Given the description of an element on the screen output the (x, y) to click on. 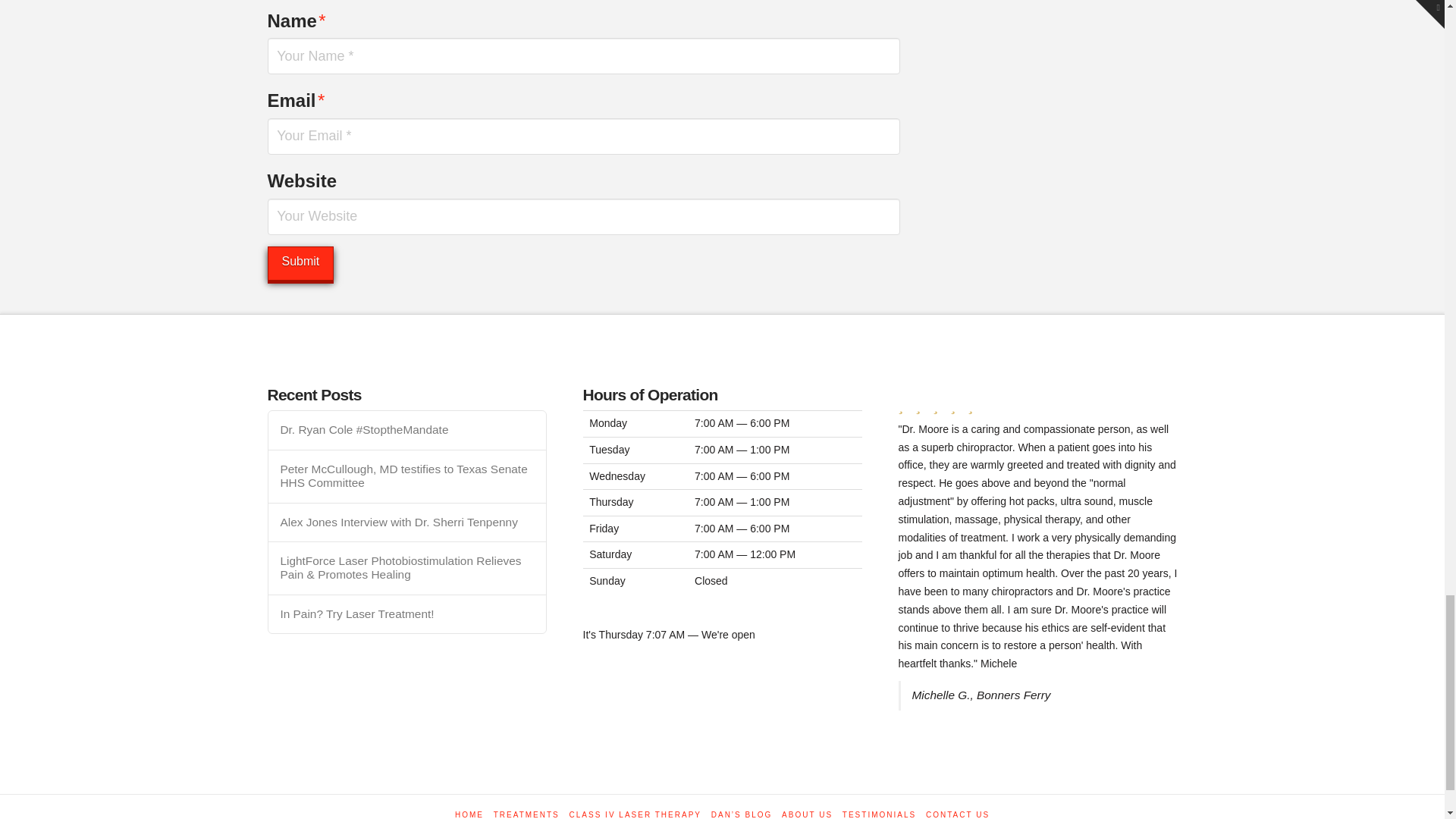
Submit (299, 263)
Submit (299, 263)
